Given the description of an element on the screen output the (x, y) to click on. 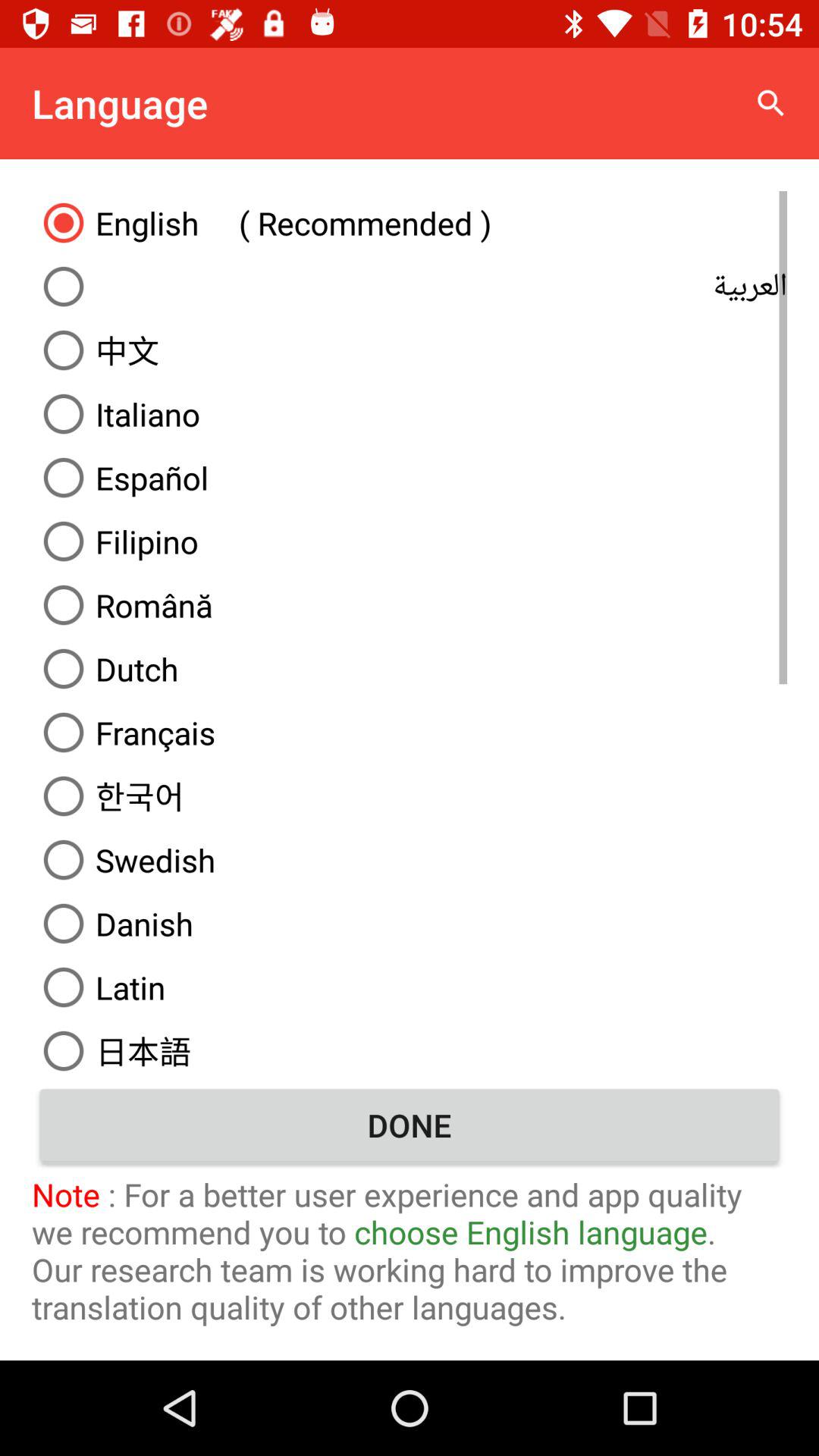
jump until the filipino icon (409, 541)
